Given the description of an element on the screen output the (x, y) to click on. 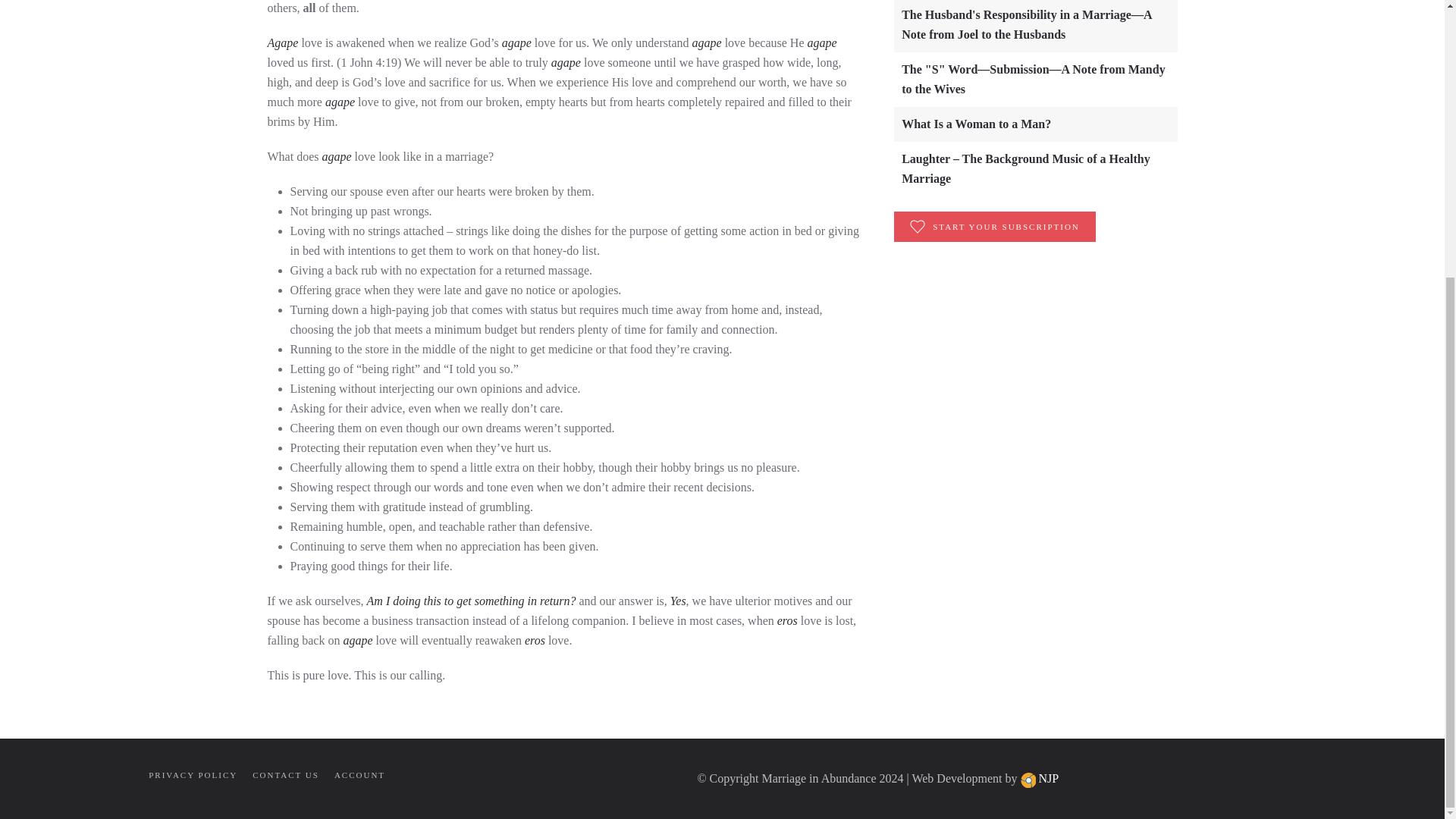
PRIVACY POLICY (192, 775)
CONTACT US (284, 775)
ACCOUNT (359, 775)
NJP (1049, 778)
What Is a Woman to a Man? (976, 123)
Start your subscription (994, 226)
START YOUR SUBSCRIPTION (994, 226)
